Given the description of an element on the screen output the (x, y) to click on. 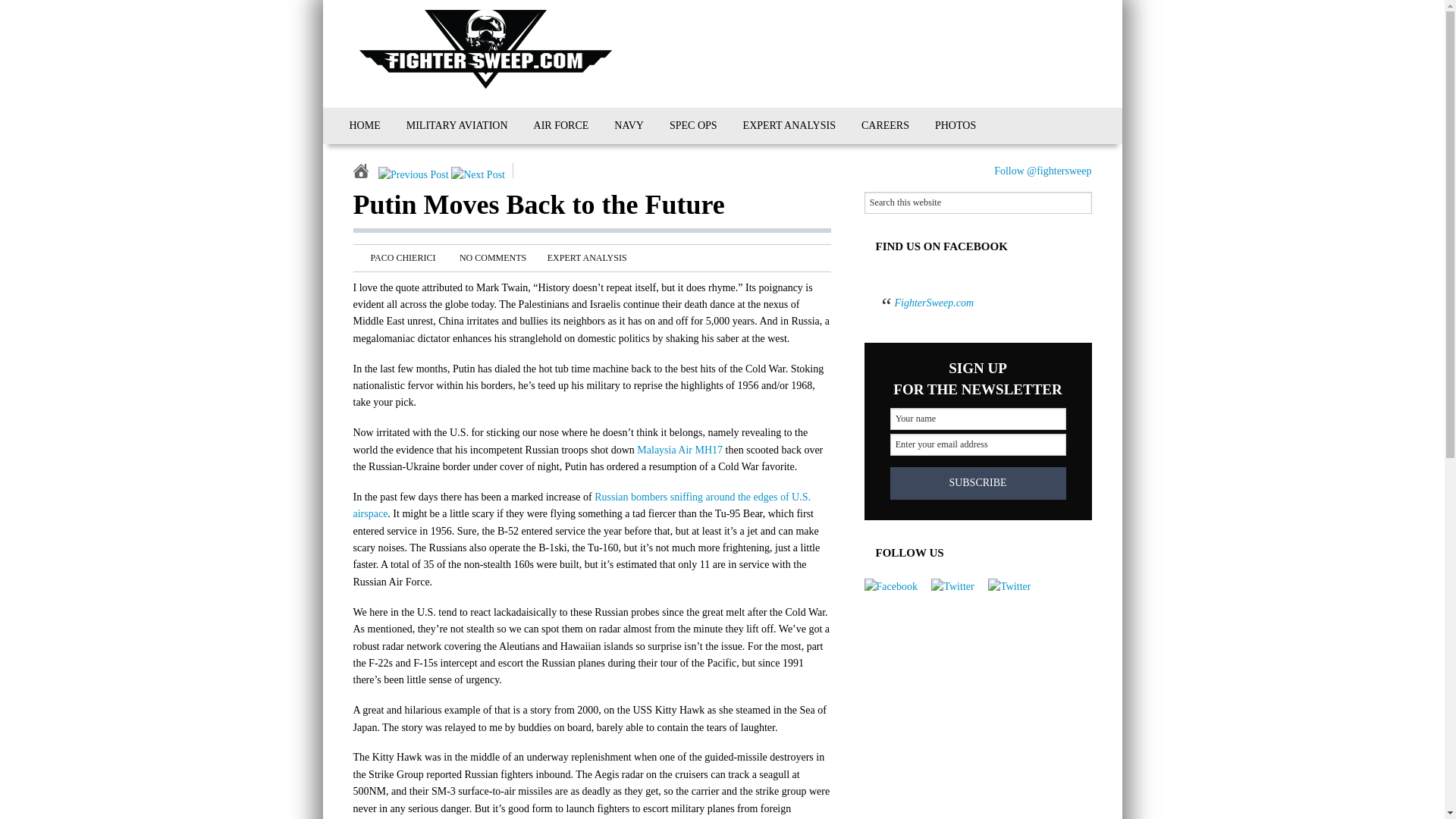
EXPERT ANALYSIS (587, 257)
SUBSCRIBE (977, 482)
PACO CHIERICI (402, 257)
CAREERS (885, 125)
Russian bombers sniffing US airspace (581, 505)
NO COMMENTS (492, 257)
AIR FORCE (560, 125)
Posts by Paco Chierici (402, 257)
Follow FighterSweep on Facebook (890, 587)
